Given the description of an element on the screen output the (x, y) to click on. 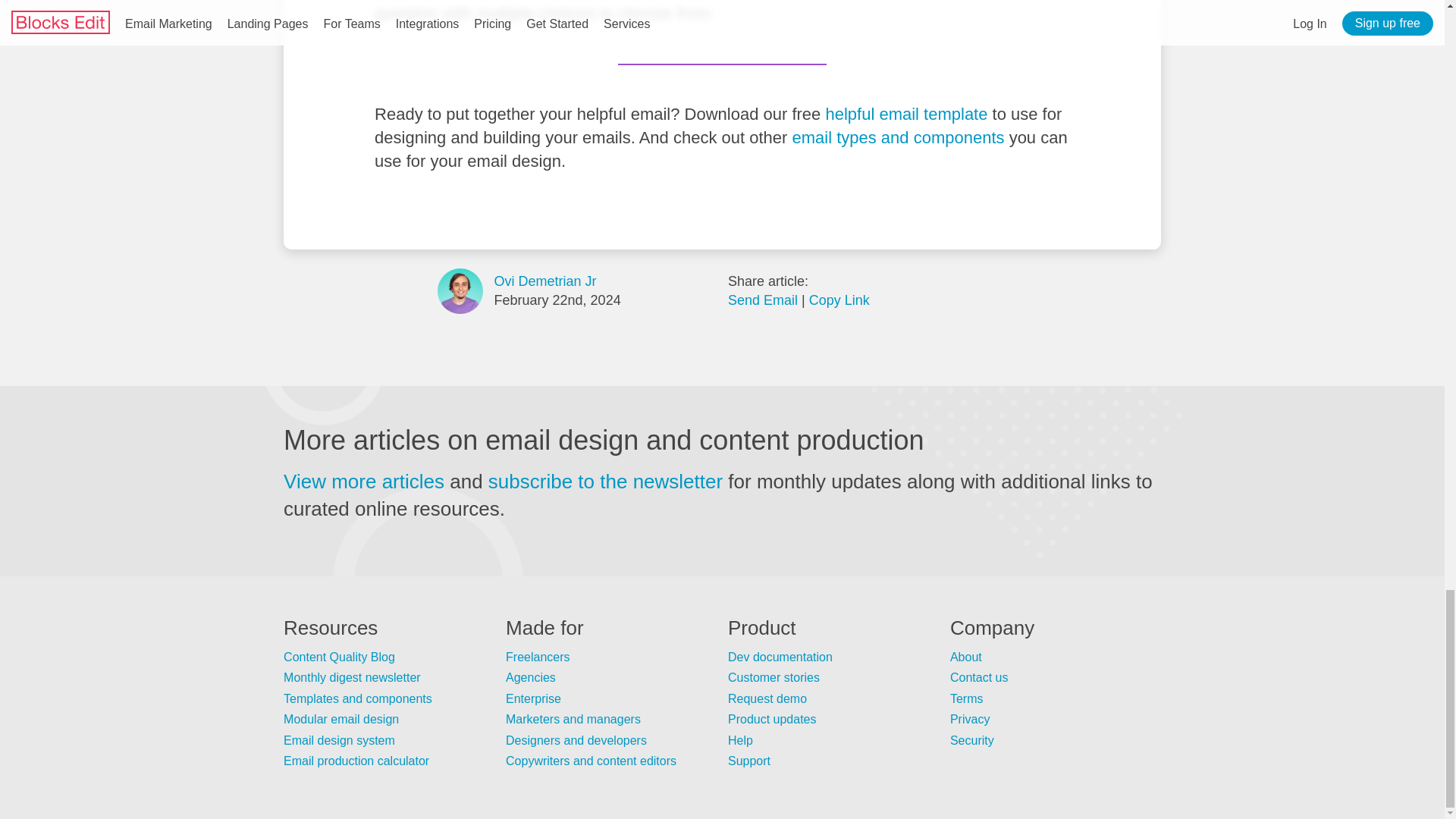
Monthly digest newsletter (351, 676)
Marketers and managers (572, 718)
Send Email (762, 299)
Enterprise (532, 698)
Email design system (338, 739)
Modular email design (340, 718)
Content Quality Blog (338, 656)
Ovi Demetrian Jr (545, 281)
helpful email template (906, 113)
View more articles (363, 481)
